Given the description of an element on the screen output the (x, y) to click on. 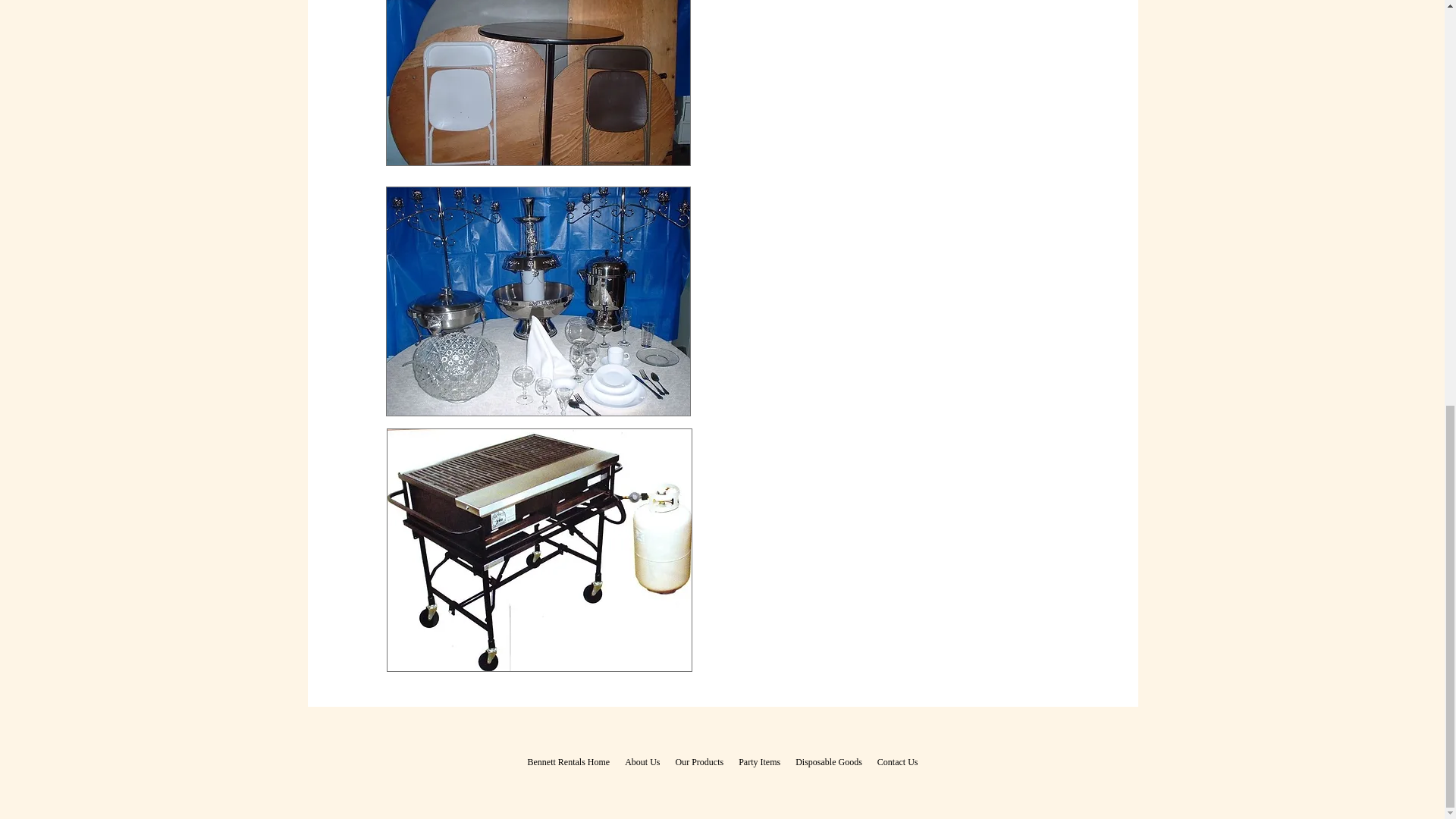
Our Products (698, 762)
Contact Us (897, 762)
About Us (641, 762)
Bennett Rentals Home (568, 762)
Party Items (758, 762)
Disposable Goods (828, 762)
